Given the description of an element on the screen output the (x, y) to click on. 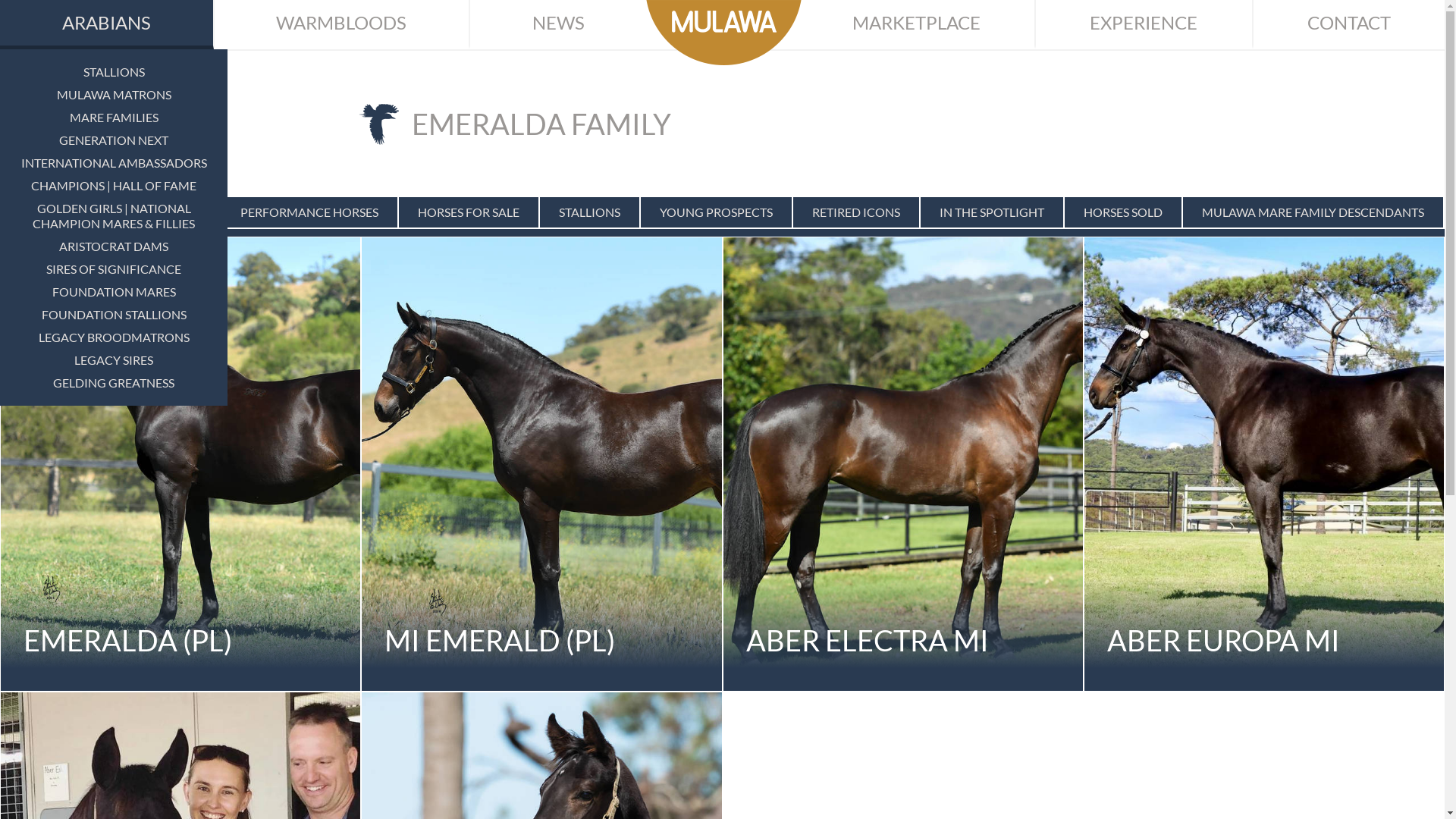
YOUNG PROSPECTS Element type: text (715, 212)
FOUNDATION STALLIONS Element type: text (113, 314)
FOUNDATION MARES Element type: text (113, 291)
GOLDEN GIRLS | NATIONAL CHAMPION MARES & FILLIES Element type: text (113, 216)
ARISTOCRAT DAMS Element type: text (113, 246)
WARMBLOODS Element type: text (341, 24)
GENERATION NEXT Element type: text (113, 139)
HORSES SOLD Element type: text (1122, 212)
MI EMERALD (PL) Element type: text (540, 463)
EXPERIENCE Element type: text (1143, 24)
GELDING GREATNESS Element type: text (113, 382)
ARABIANS Element type: text (106, 24)
ALL Element type: text (190, 212)
STALLIONS Element type: text (113, 71)
MARE FAMILIES Element type: text (113, 117)
CONTACT Element type: text (1348, 24)
MULAWA MATRONS Element type: text (113, 94)
NEWS Element type: text (557, 24)
HORSES FOR SALE Element type: text (468, 212)
INTERNATIONAL AMBASSADORS Element type: text (113, 162)
SIRES OF SIGNIFICANCE Element type: text (113, 268)
PERFORMANCE HORSES Element type: text (309, 212)
LEGACY BROODMATRONS Element type: text (113, 337)
RETIRED ICONS Element type: text (856, 212)
ABER EUROPA MI Element type: text (1263, 463)
MARKETPLACE Element type: text (916, 24)
EMERALDA (PL) Element type: text (180, 463)
Mulawa Arabian Stud Element type: hover (723, 32)
IN THE SPOTLIGHT Element type: text (991, 212)
LEGACY SIRES Element type: text (113, 359)
ABER ELECTRA MI Element type: text (901, 463)
CHAMPIONS | HALL OF FAME Element type: text (113, 185)
STALLIONS Element type: text (589, 212)
MULAWA MARE FAMILY DESCENDANTS Element type: text (1313, 212)
